Given the description of an element on the screen output the (x, y) to click on. 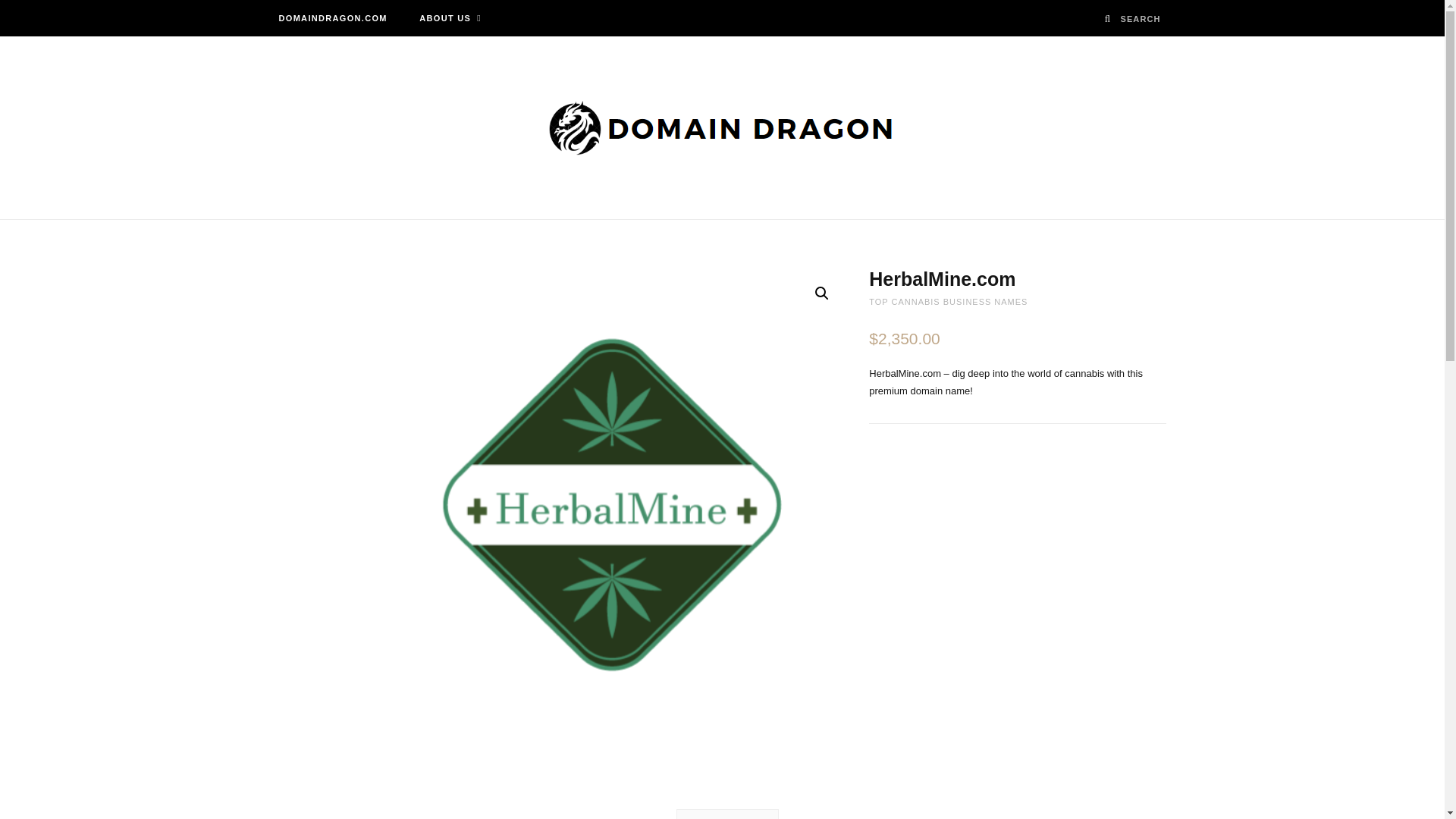
ABOUT US (450, 18)
TOP CANNABIS BUSINESS NAMES (948, 301)
domaindragon.com (721, 127)
DOMAINDRAGON.COM (332, 18)
DESCRIPTION (727, 814)
